Given the description of an element on the screen output the (x, y) to click on. 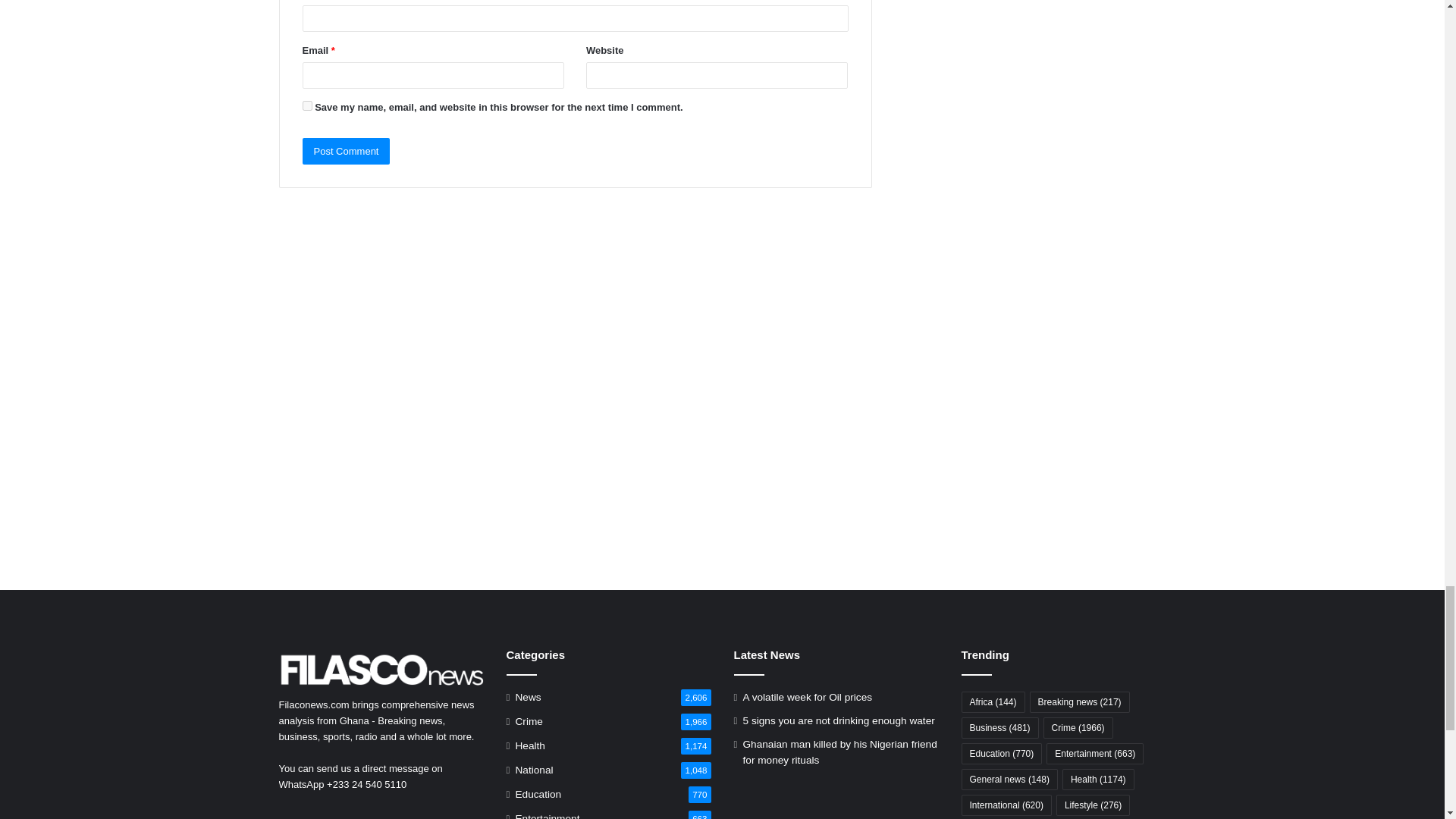
Post Comment (345, 151)
yes (306, 105)
